Given the description of an element on the screen output the (x, y) to click on. 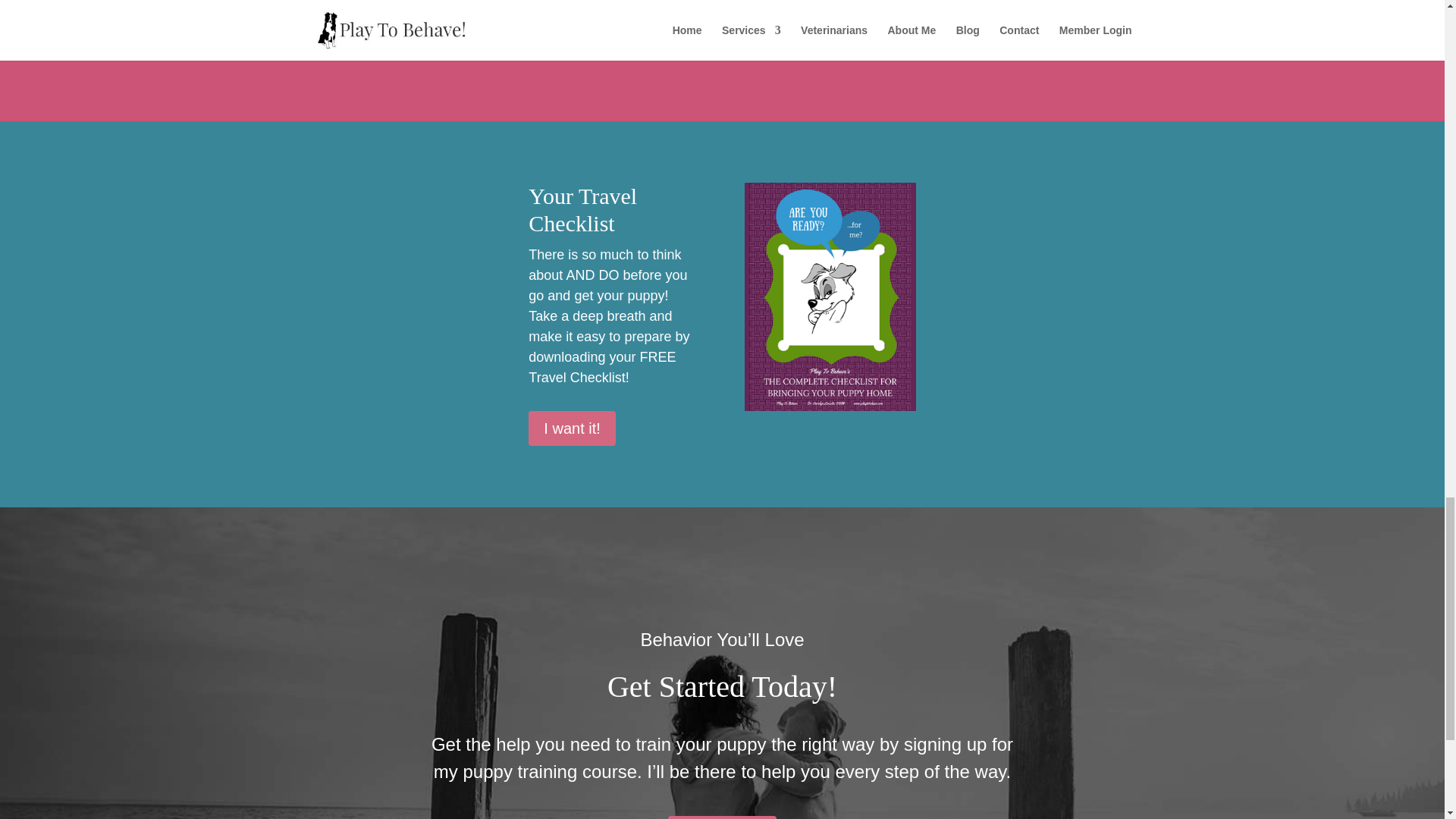
I want it! (571, 428)
Get Started (722, 817)
